Given the description of an element on the screen output the (x, y) to click on. 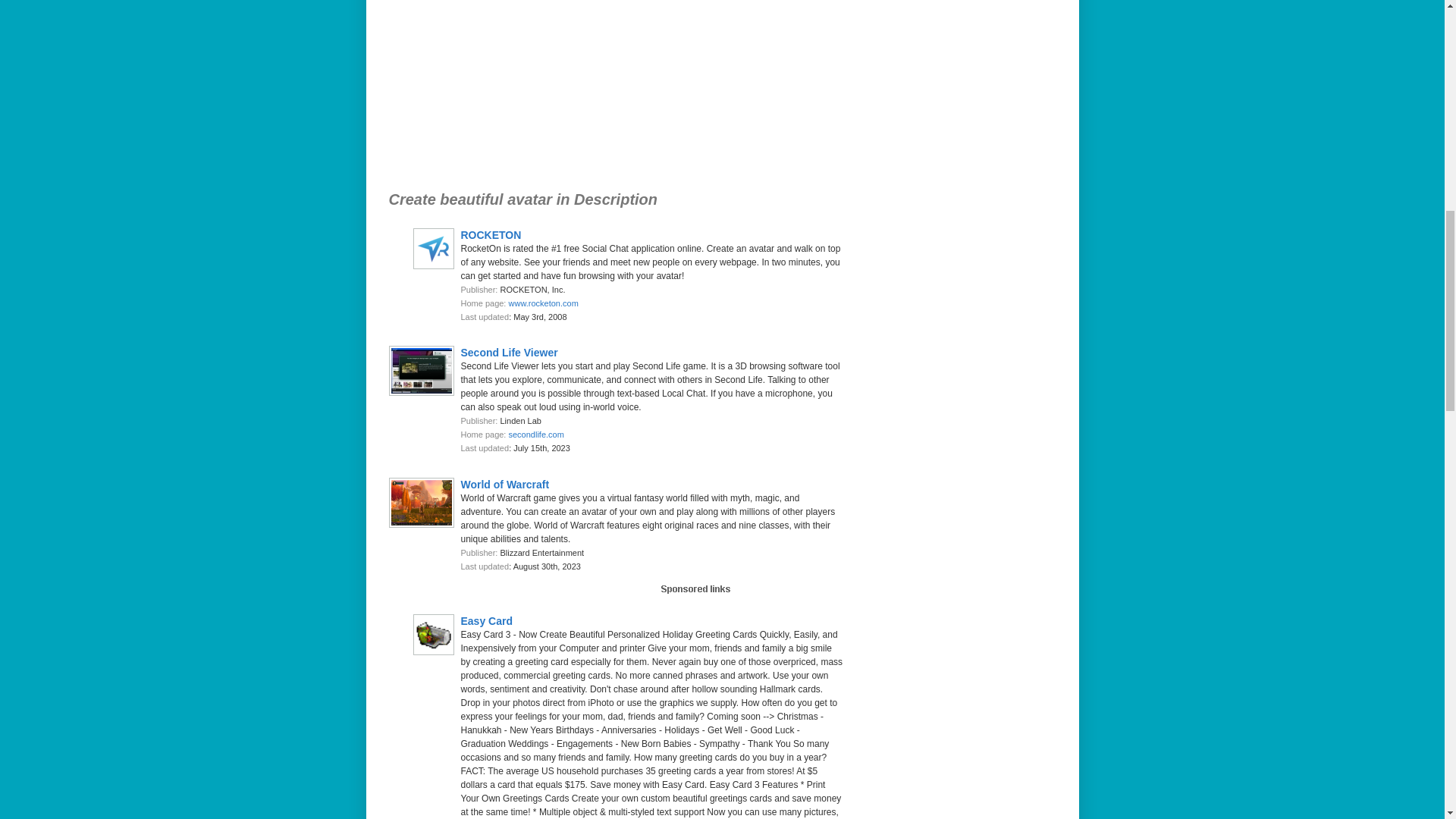
Easy Card (486, 620)
www.rocketon.com (543, 302)
Second Life Viewer (509, 352)
secondlife.com (535, 433)
ROCKETON (491, 234)
Advertisement (593, 90)
World of Warcraft (505, 483)
